Given the description of an element on the screen output the (x, y) to click on. 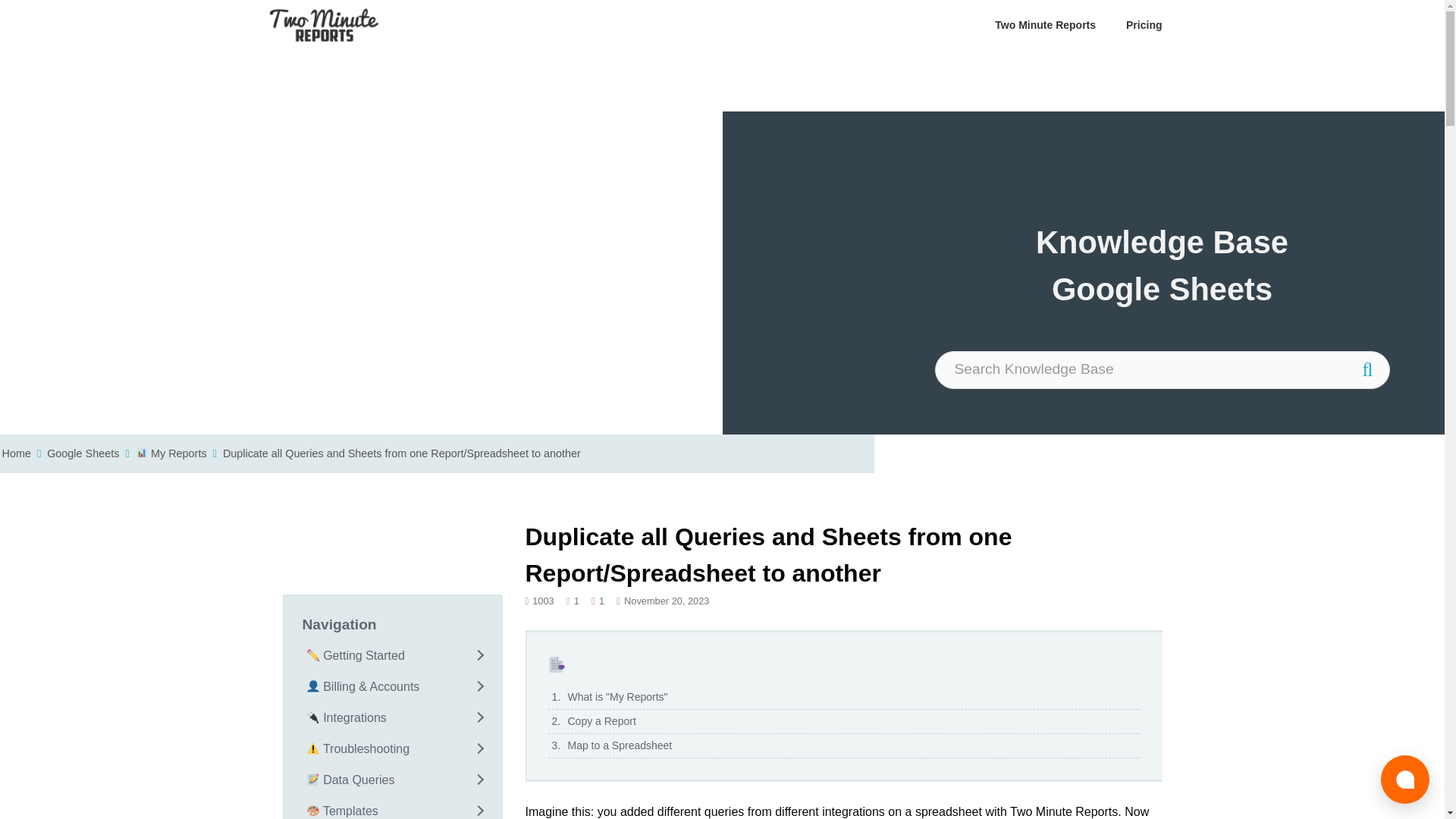
Google Sheets (82, 453)
Two Minute Reports (323, 25)
What is "My Reports" (843, 697)
Open chat window (1404, 779)
Copy a Report (843, 721)
Pricing (1143, 25)
Map to a Spreadsheet (843, 745)
Two Minute Reports (327, 25)
My Reports (170, 453)
Home (15, 453)
